Given the description of an element on the screen output the (x, y) to click on. 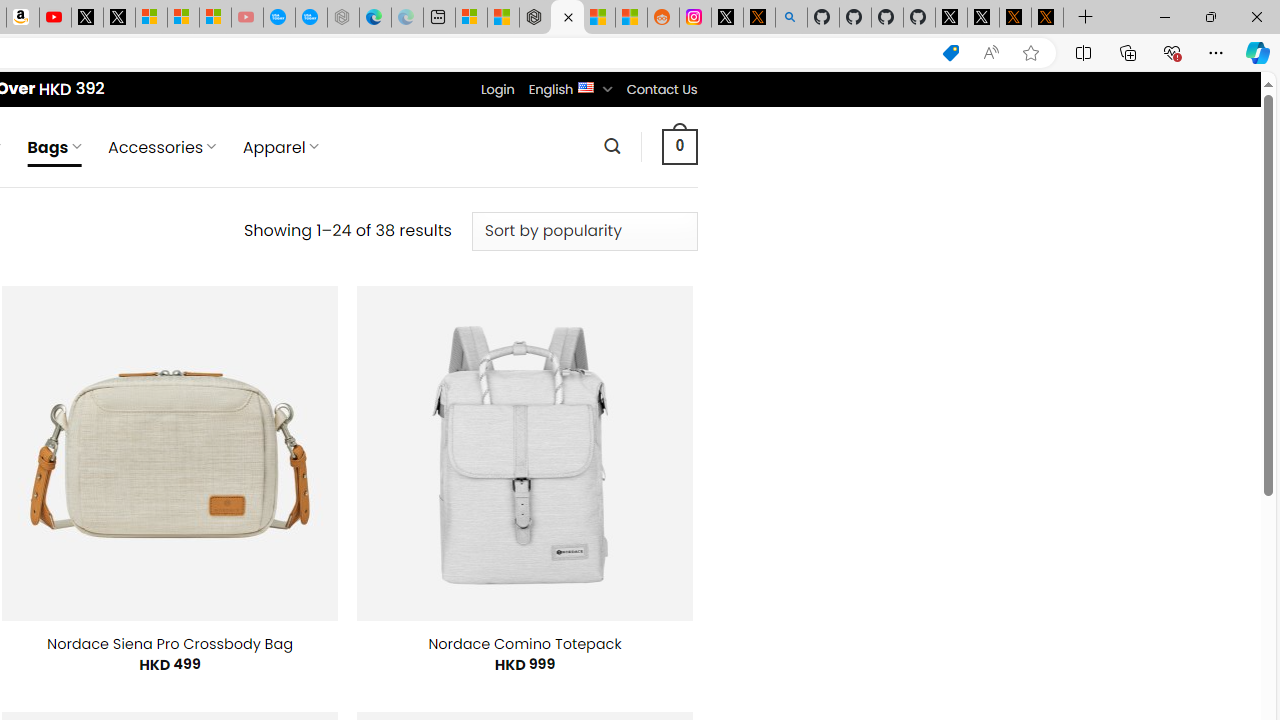
This site has coupons! Shopping in Microsoft Edge (950, 53)
Read aloud this page (Ctrl+Shift+U) (991, 53)
Split screen (1083, 52)
Nordace - Nordace has arrived Hong Kong - Sleeping (343, 17)
Nordace Siena Pro Crossbody Bag (170, 643)
Login (497, 89)
Login (497, 89)
  0   (679, 146)
Day 1: Arriving in Yemen (surreal to be here) - YouTube (54, 17)
Opinion: Op-Ed and Commentary - USA TODAY (279, 17)
